Given the description of an element on the screen output the (x, y) to click on. 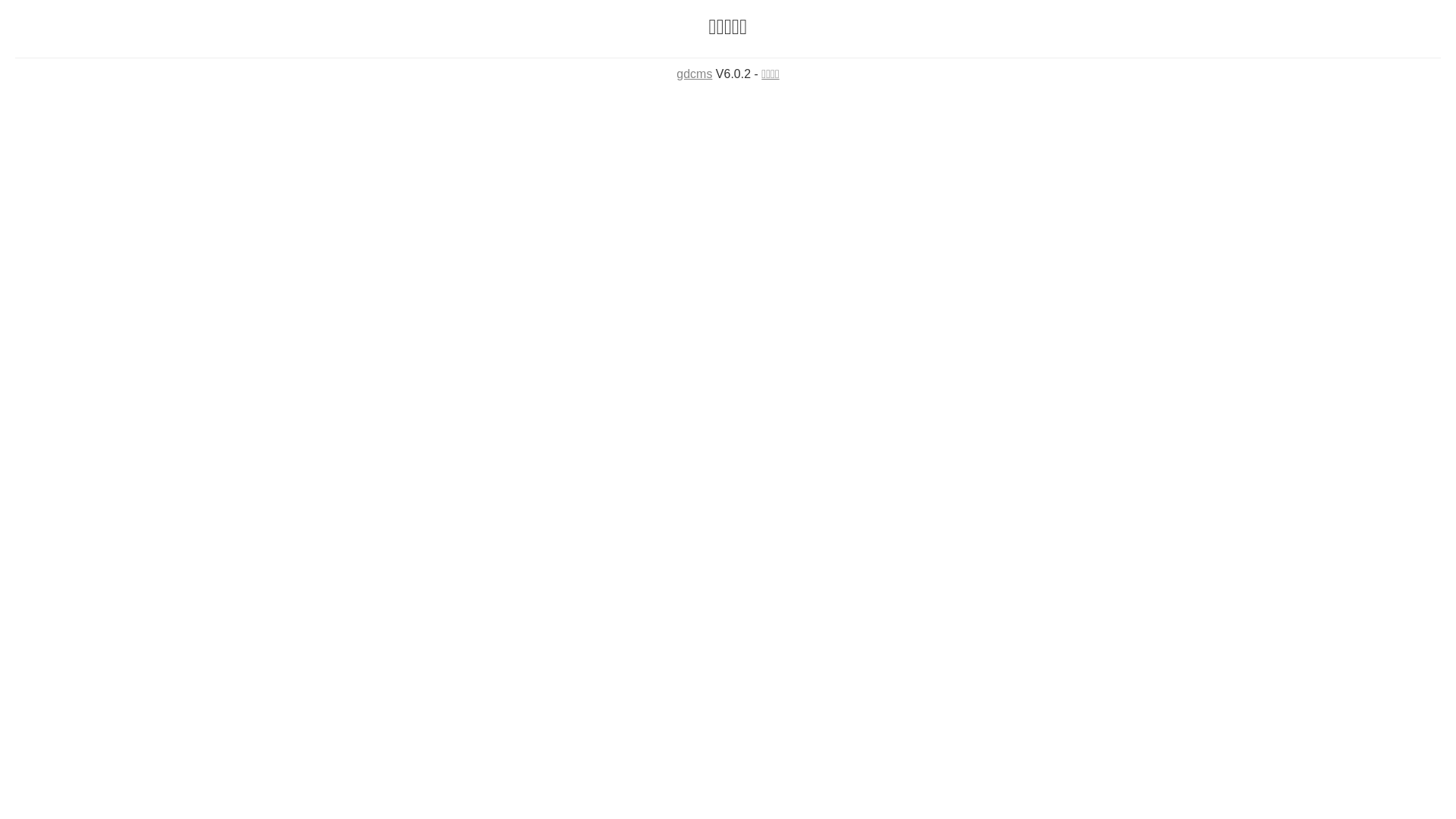
gdcms Element type: text (694, 73)
